Given the description of an element on the screen output the (x, y) to click on. 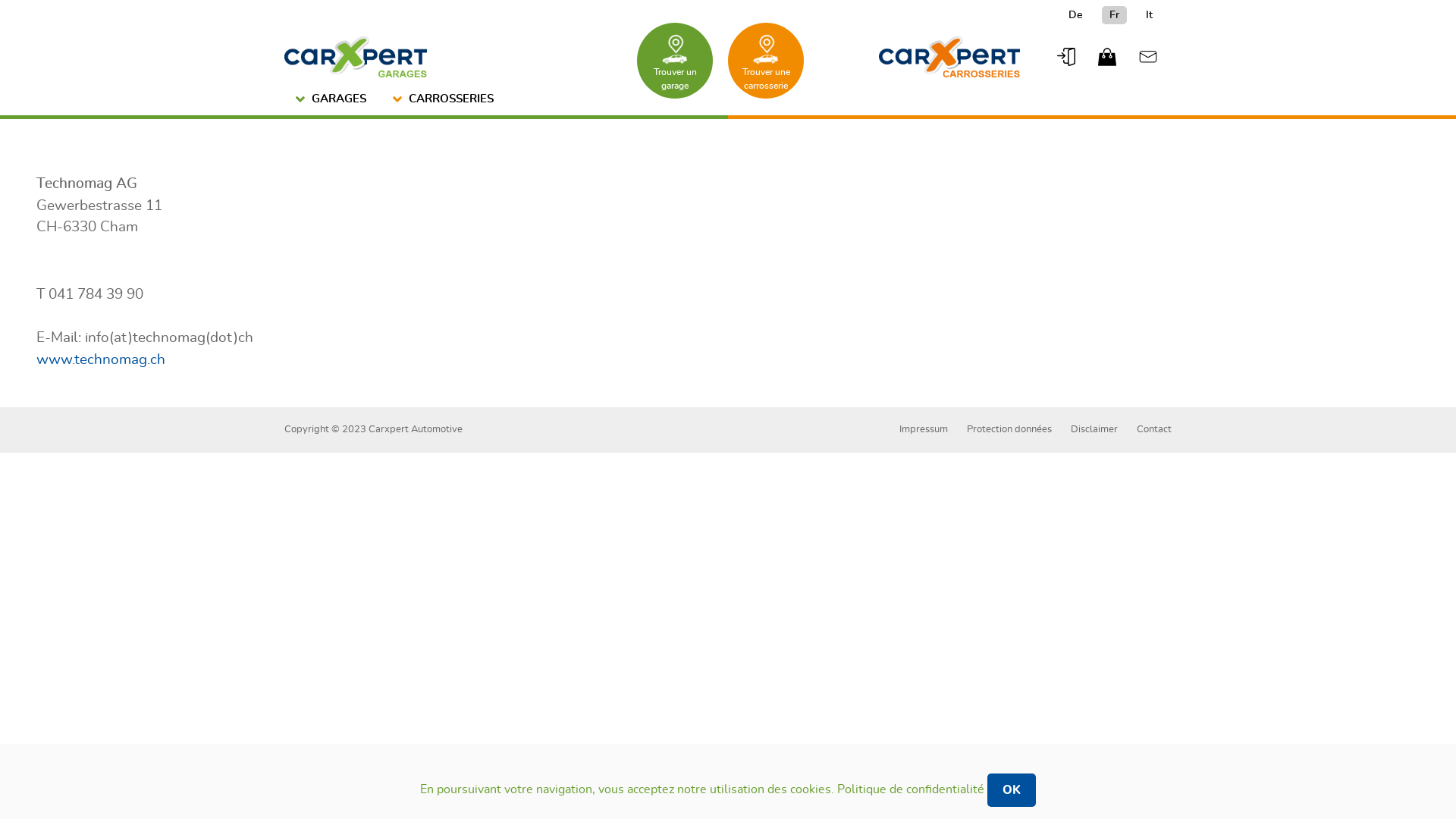
Shop Element type: text (1107, 56)
Disclaimer Element type: text (1093, 429)
Trouver une carrosserie Element type: text (765, 60)
Impressum Element type: text (923, 429)
Fr Element type: text (1113, 15)
CARROSSERIES Element type: text (444, 99)
OK Element type: text (1011, 789)
Login Element type: text (1066, 56)
Contact Element type: text (1153, 429)
De Element type: text (1075, 15)
Contact Element type: text (1148, 56)
GARAGES Element type: text (332, 99)
It Element type: text (1149, 15)
Trouver un garage Element type: text (674, 60)
www.technomag.ch Element type: text (100, 359)
